Given the description of an element on the screen output the (x, y) to click on. 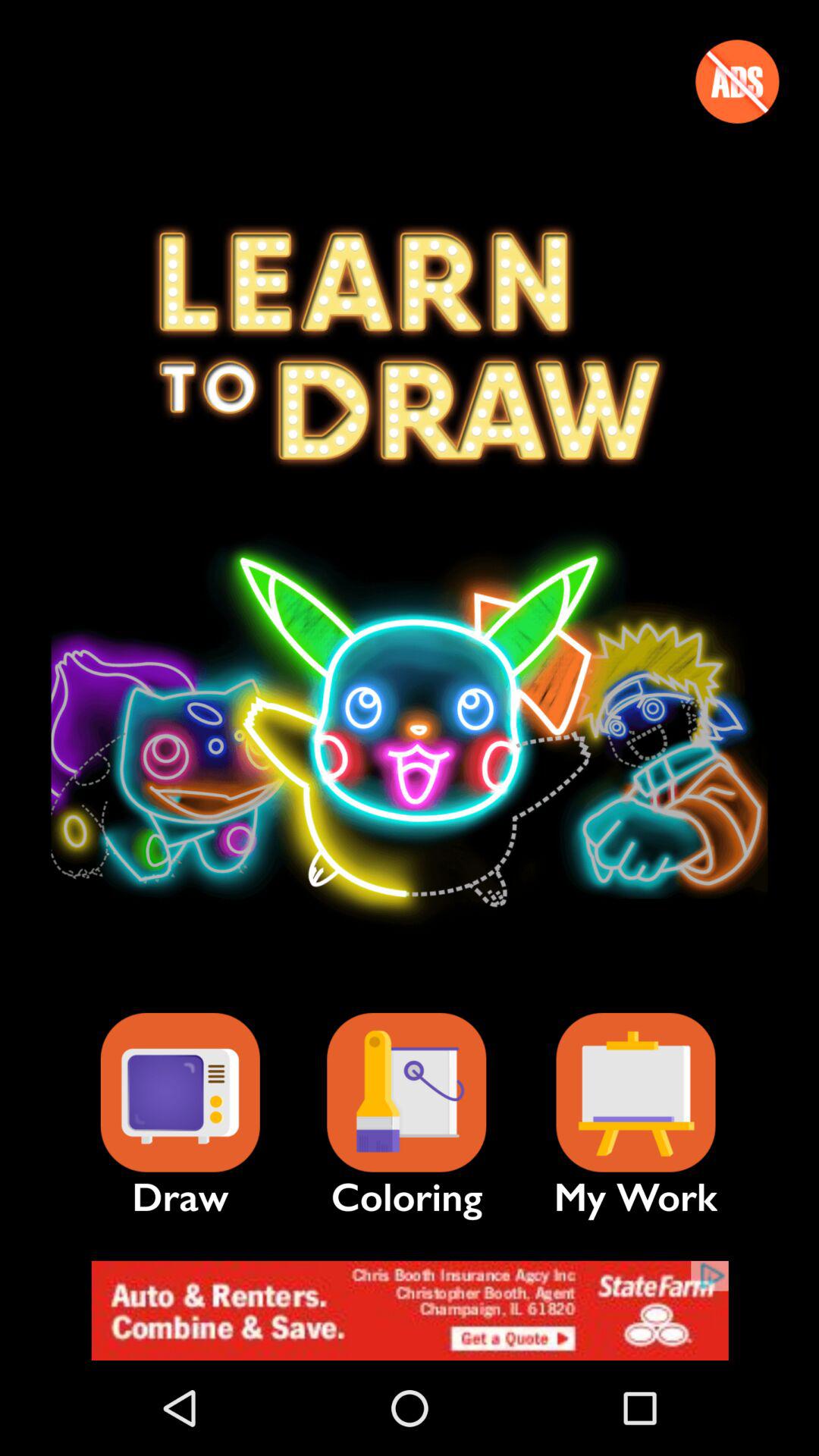
switch advertisement option (737, 81)
